Given the description of an element on the screen output the (x, y) to click on. 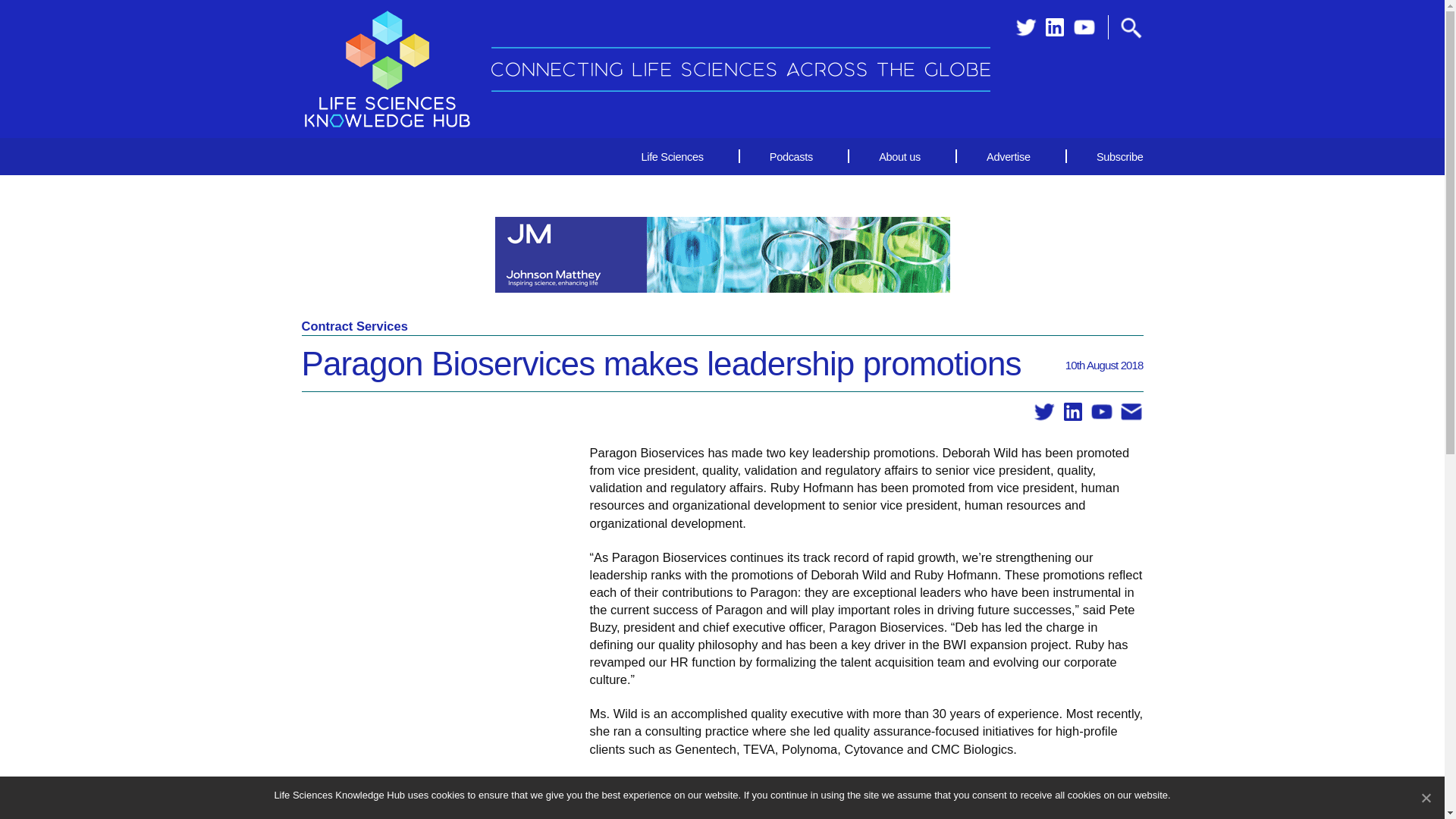
Events List 2024 (1346, 798)
Advertise (1008, 156)
Life Sciences (672, 156)
twitter (1044, 412)
youtube (1083, 27)
Podcasts (791, 156)
twitter (1025, 27)
youtube (1101, 412)
Linkedin (1054, 27)
linkedin (1072, 412)
email (1130, 412)
Subscribe (1106, 156)
About us (899, 156)
